Given the description of an element on the screen output the (x, y) to click on. 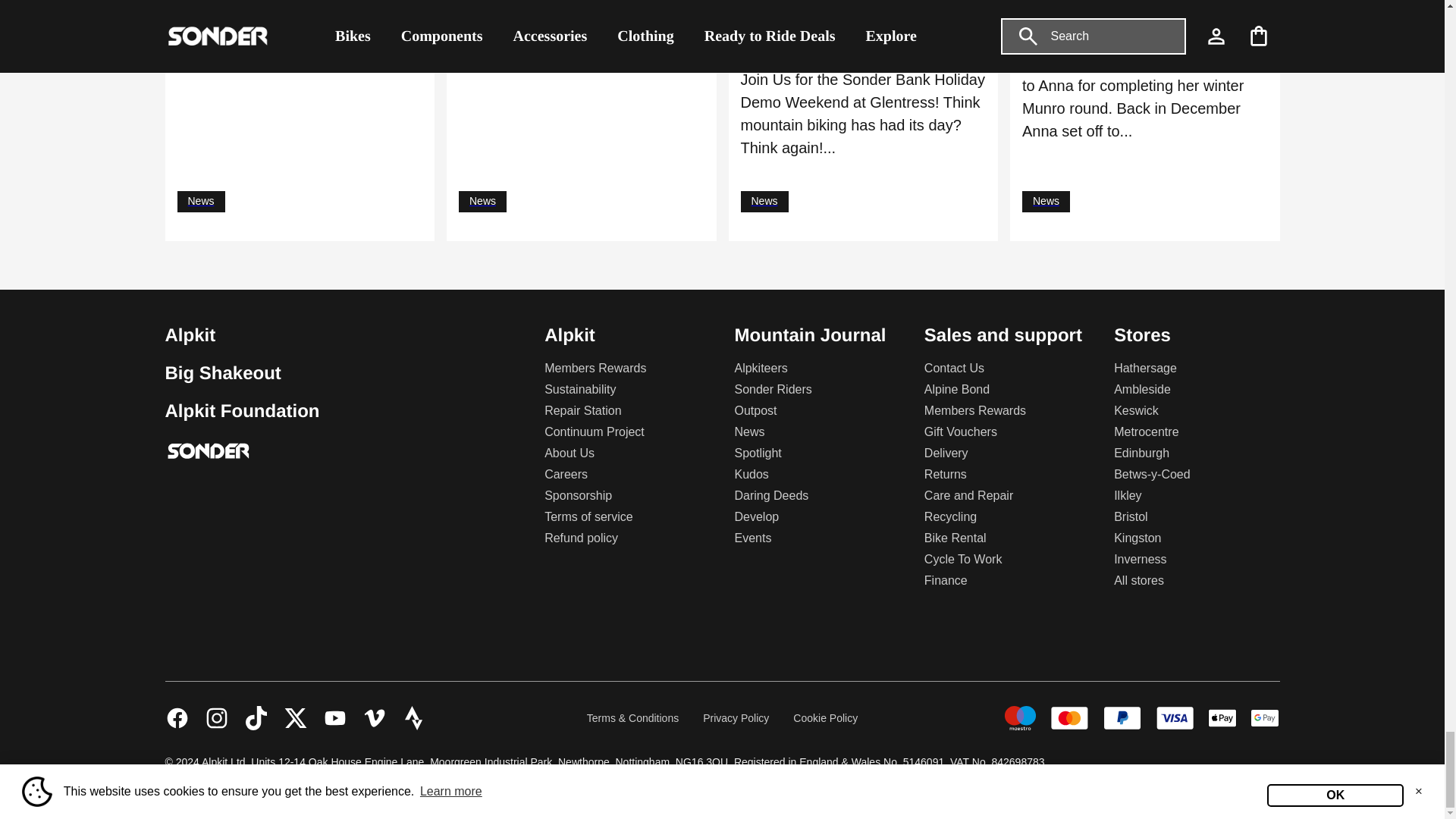
Alpkit - Facebook (177, 717)
Alpkit - X (295, 717)
Anna Wells completes winter Munro round (1145, 28)
Alpkit - TikTok (255, 717)
Alpkit - Instagram (216, 717)
Alpkit - YouTube (335, 717)
Alpkit - Vimeo (374, 717)
